Given the description of an element on the screen output the (x, y) to click on. 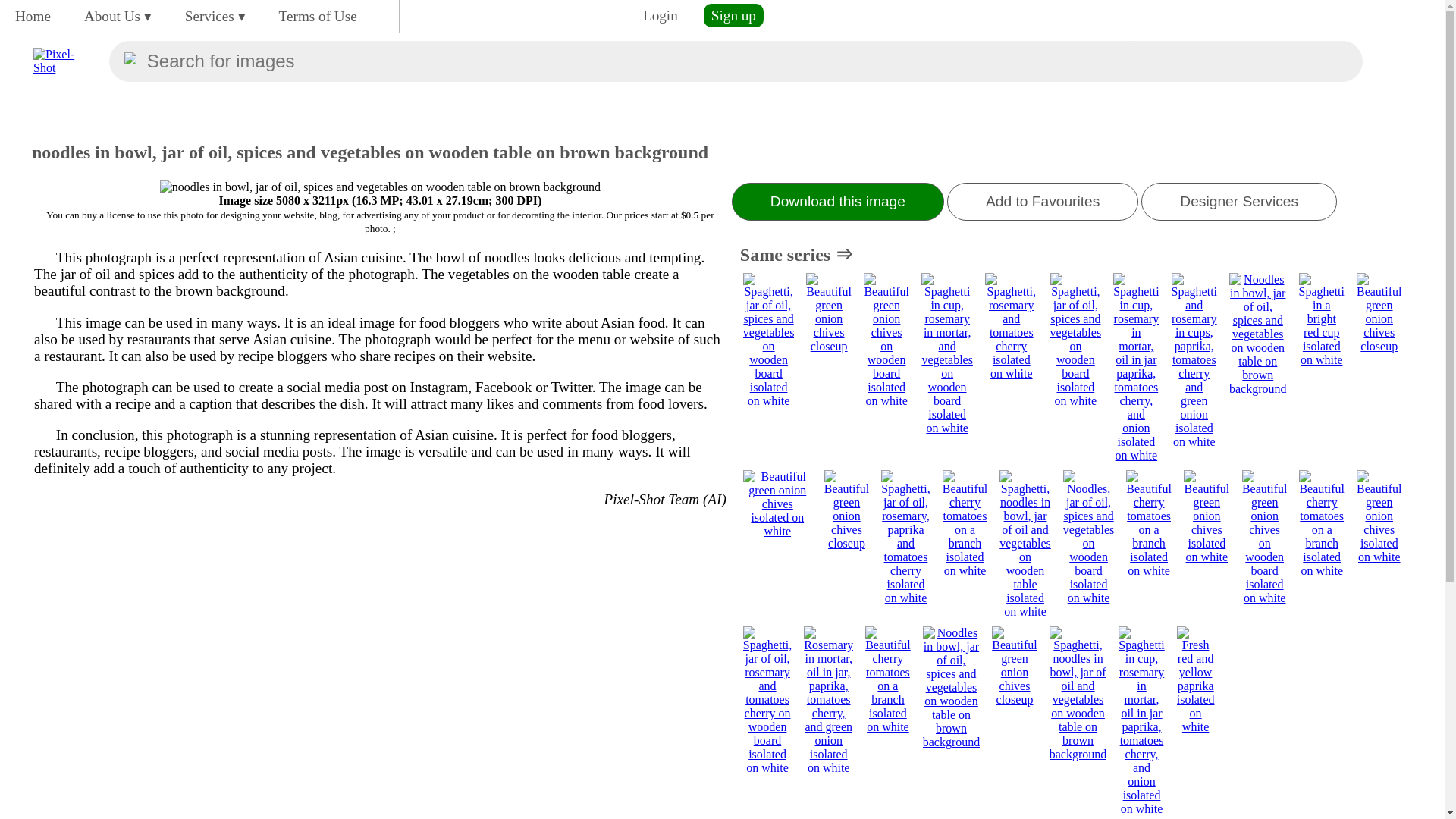
Sign up (732, 15)
Buyer registration (732, 15)
Download this image (837, 201)
Home (32, 15)
Terms of Use (317, 15)
Home (32, 15)
Designer Services (1238, 201)
Login to your account using your email and password (659, 15)
